Given the description of an element on the screen output the (x, y) to click on. 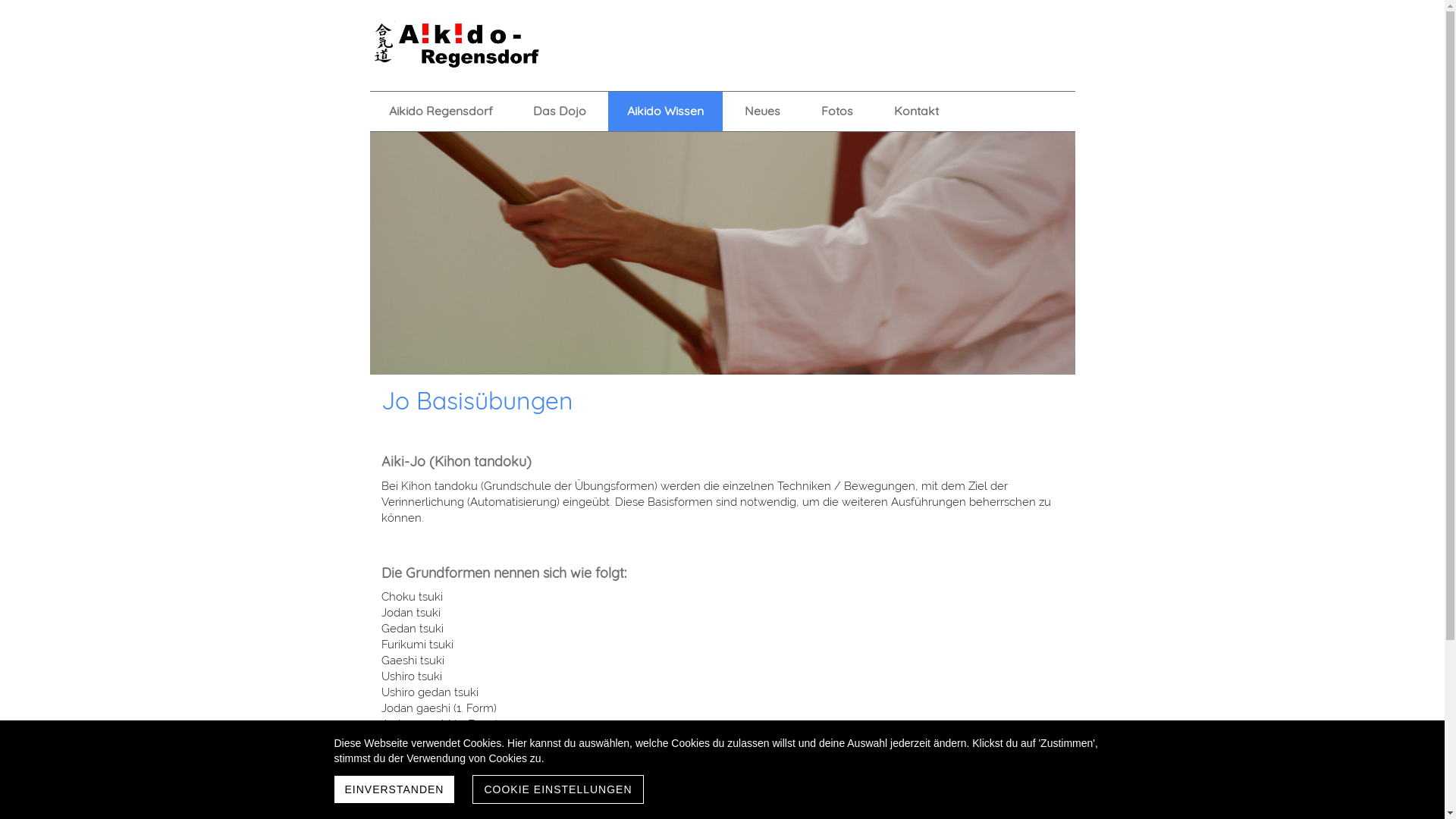
COOKIE EINSTELLUNGEN Element type: text (557, 789)
Aikido Wissen Element type: text (665, 111)
Aikido Regensdorf Element type: text (440, 111)
Fotos Element type: text (837, 111)
Das Dojo Element type: text (559, 111)
EINVERSTANDEN Element type: text (393, 789)
Kontakt Element type: text (916, 111)
Neues Element type: text (762, 111)
